Given the description of an element on the screen output the (x, y) to click on. 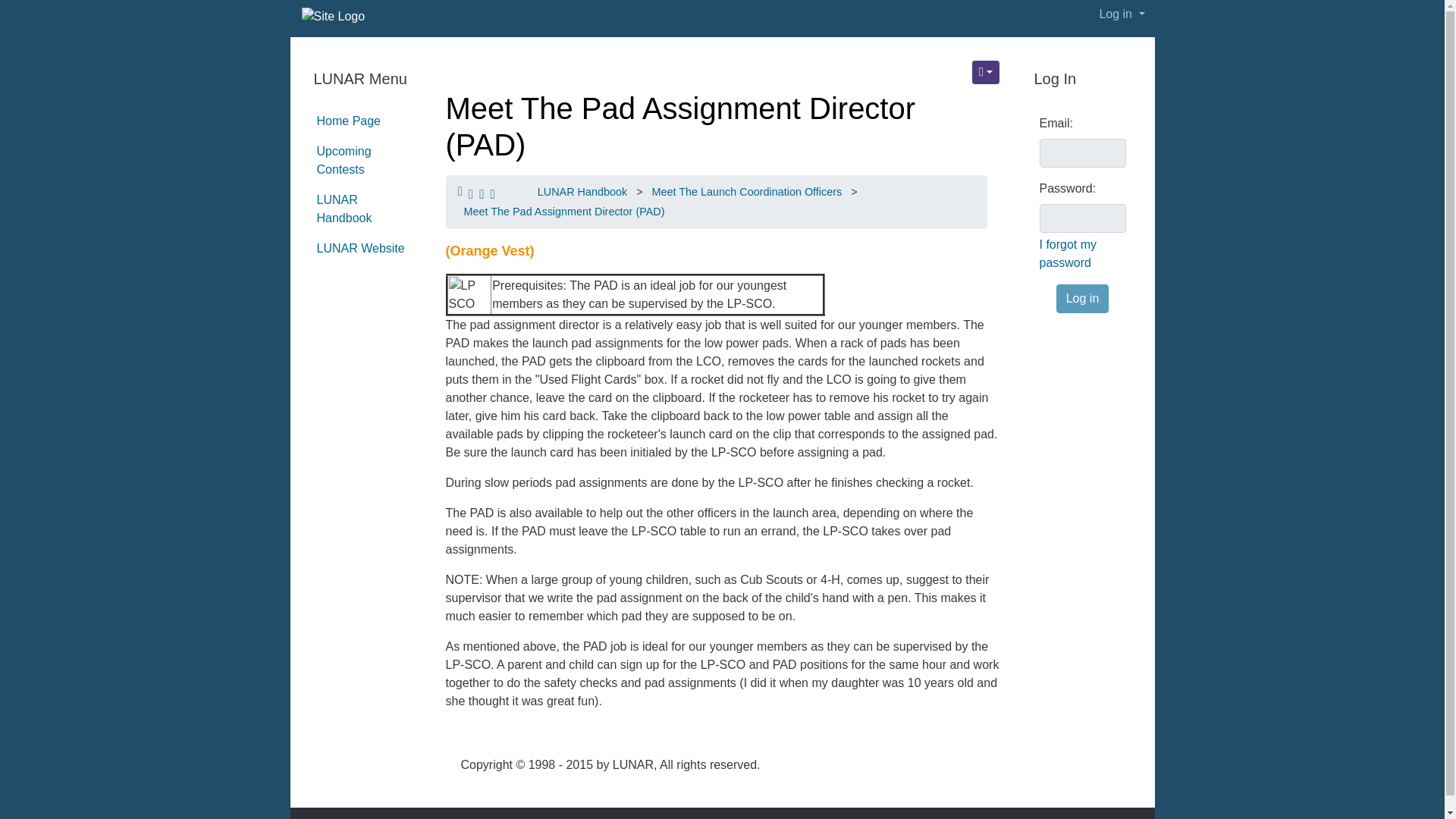
Structures (985, 72)
Upcoming Contests Summary (344, 160)
refresh (680, 126)
Upcoming Contests (344, 160)
LUNAR Handbook (582, 191)
Tikiwiki powered site (327, 17)
LUNAR Handbook (344, 208)
Log in (1121, 14)
Click here if you've forgotten your password (1082, 253)
I forgot my password (1082, 253)
LUNARHandbook (344, 208)
Meet The Launch Coordination Officers (747, 191)
Home Page (349, 120)
Log in (1083, 298)
LUNAR Website (360, 247)
